Given the description of an element on the screen output the (x, y) to click on. 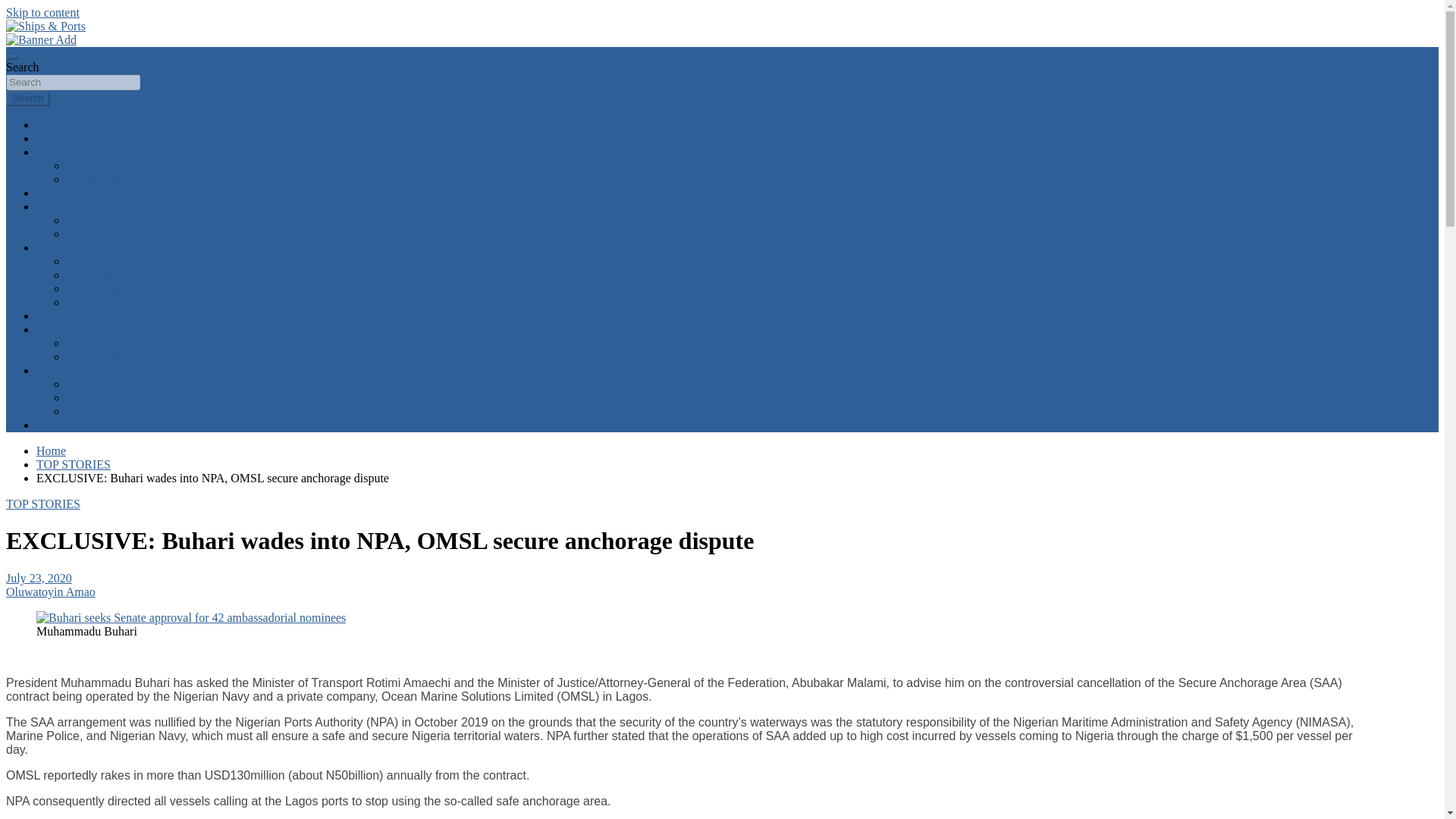
Advertise Here (102, 397)
Reports (55, 205)
Ace Thought (98, 287)
News (50, 137)
Top quotes (62, 315)
Search (27, 98)
Editorial (57, 151)
TOP STORIES (42, 503)
Skip to content (42, 11)
About Us (89, 383)
Contact Us (93, 410)
Issues in the news (110, 356)
Reports (85, 219)
Opinion (55, 328)
